Given the description of an element on the screen output the (x, y) to click on. 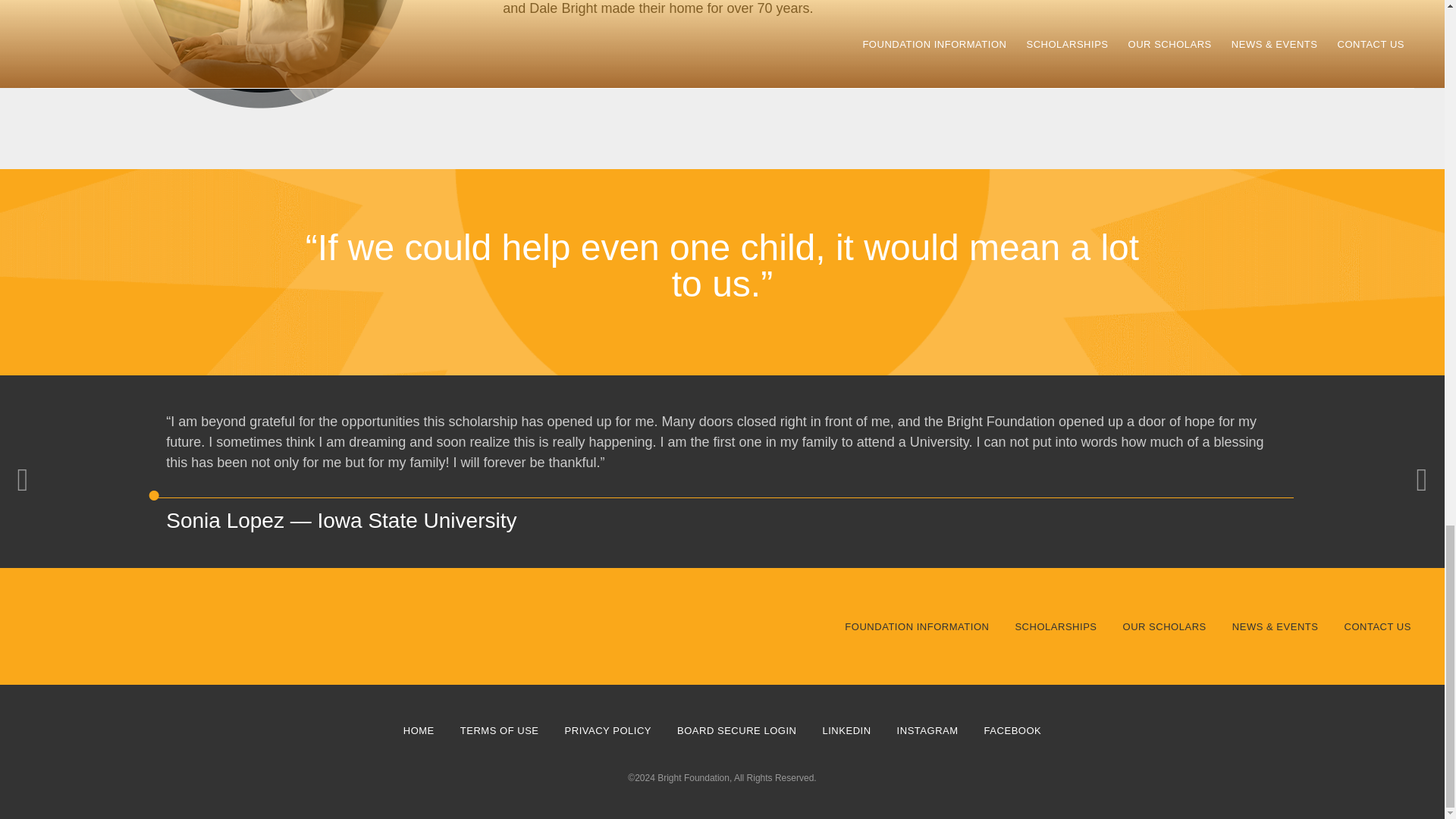
FOUNDATION INFORMATION (916, 625)
OUR SCHOLARS (1164, 625)
TERMS OF USE (498, 730)
INSTAGRAM (927, 730)
FACEBOOK (1012, 730)
PRIVACY POLICY (607, 730)
Bright Foundation (174, 626)
SCHOLARSHIPS (1055, 625)
CONTACT US (1377, 625)
HOME (418, 730)
